Given the description of an element on the screen output the (x, y) to click on. 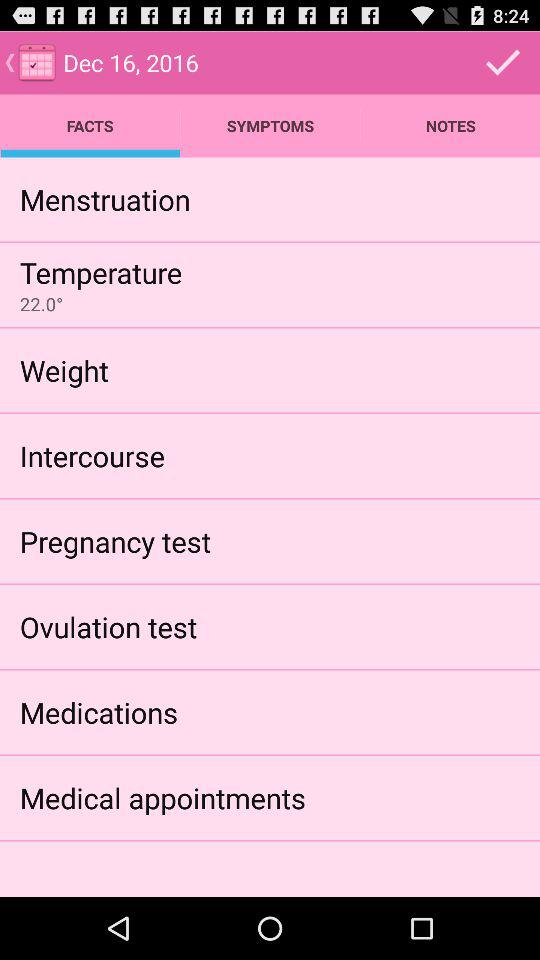
choose the app below the ovulation test app (98, 712)
